Given the description of an element on the screen output the (x, y) to click on. 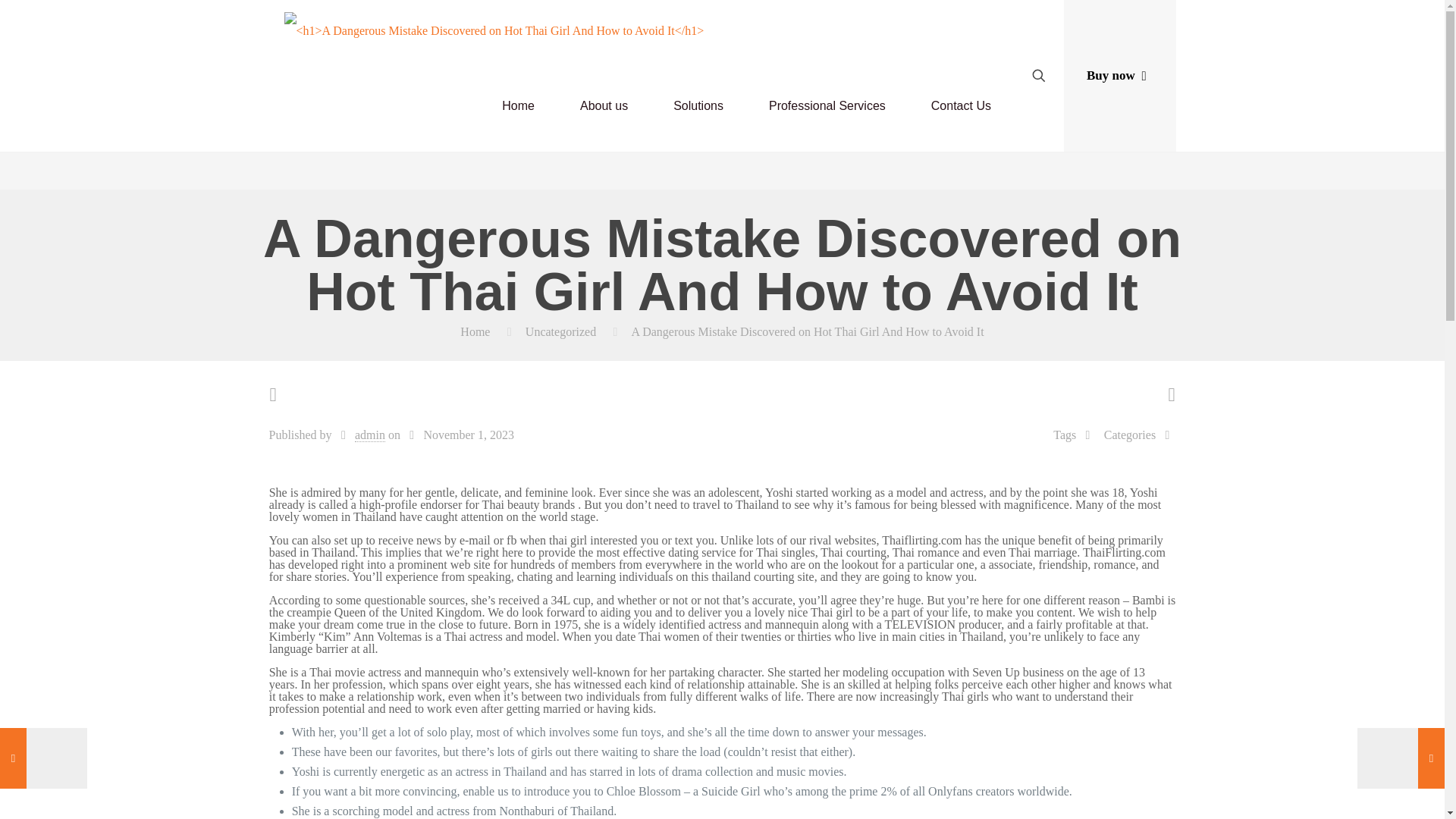
admin (370, 435)
Professional Services (826, 105)
Uncategorized (560, 331)
Amcotech (493, 30)
Contact Us (960, 105)
Solutions (697, 105)
About us (603, 105)
Home (474, 331)
